Given the description of an element on the screen output the (x, y) to click on. 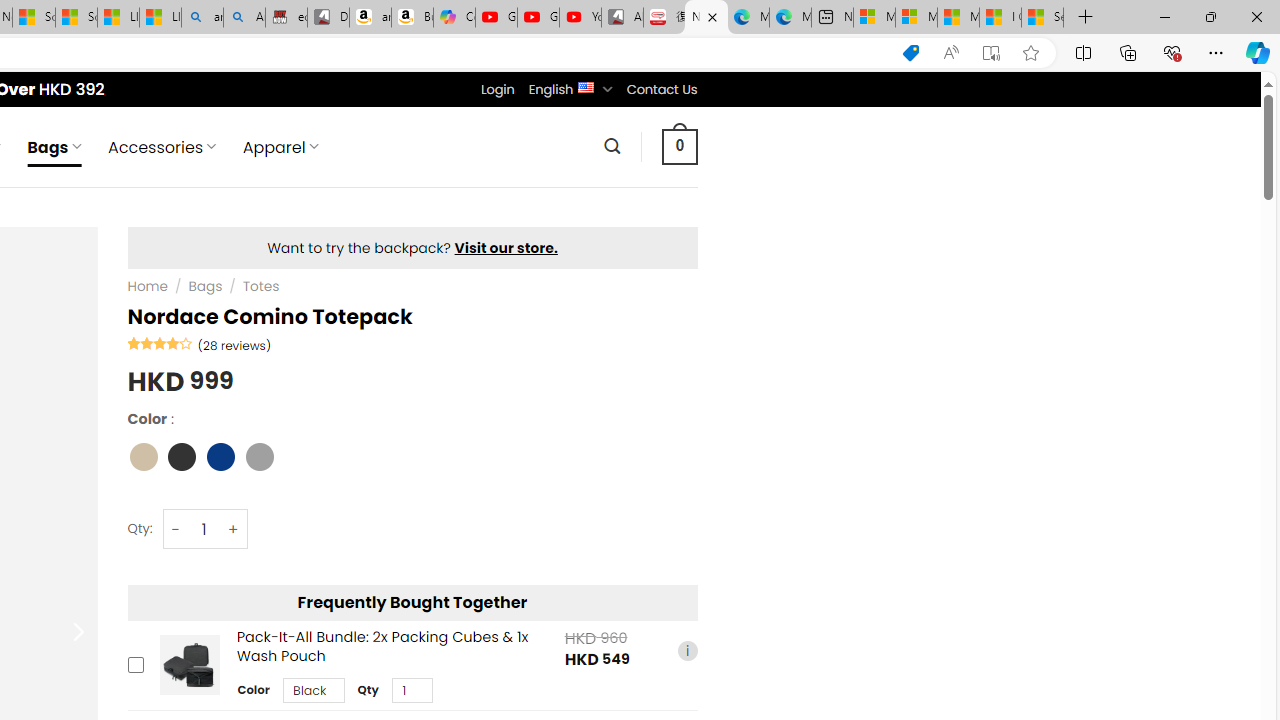
- (175, 529)
Copilot (453, 17)
